Given the description of an element on the screen output the (x, y) to click on. 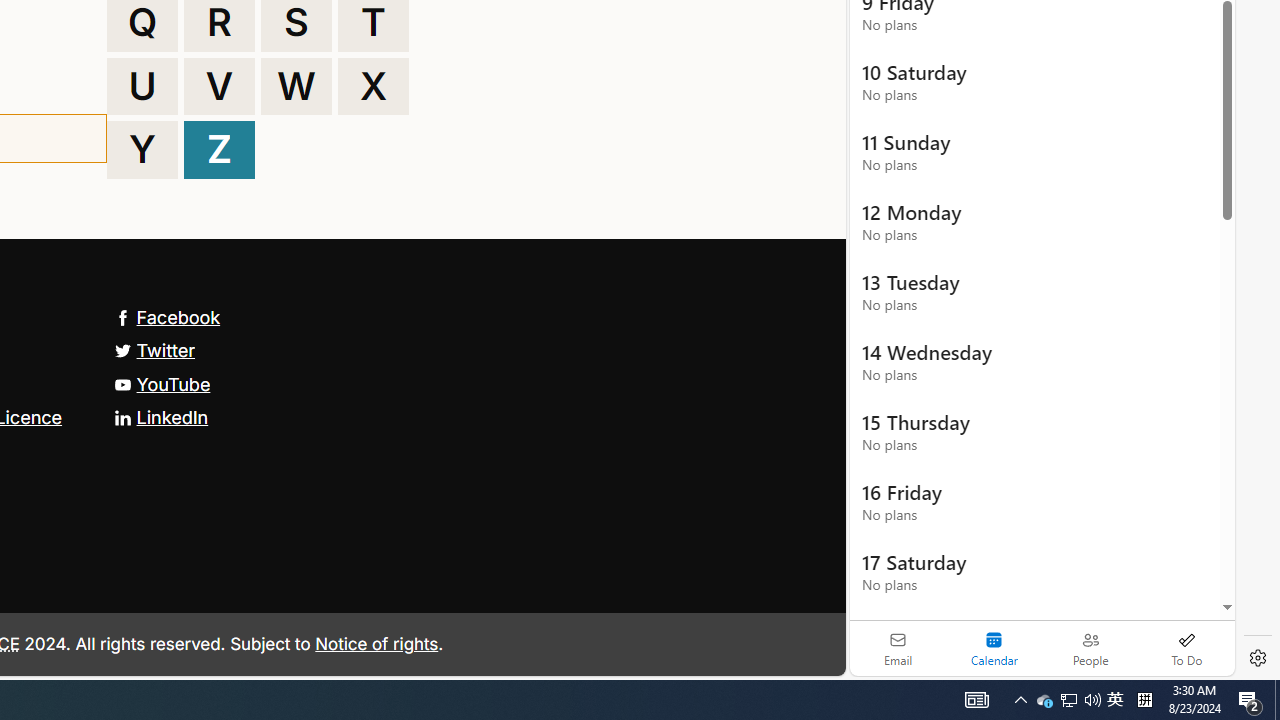
X (373, 85)
V (219, 85)
Email (898, 648)
People (1090, 648)
V (219, 85)
Z (219, 149)
Z (219, 149)
